Given the description of an element on the screen output the (x, y) to click on. 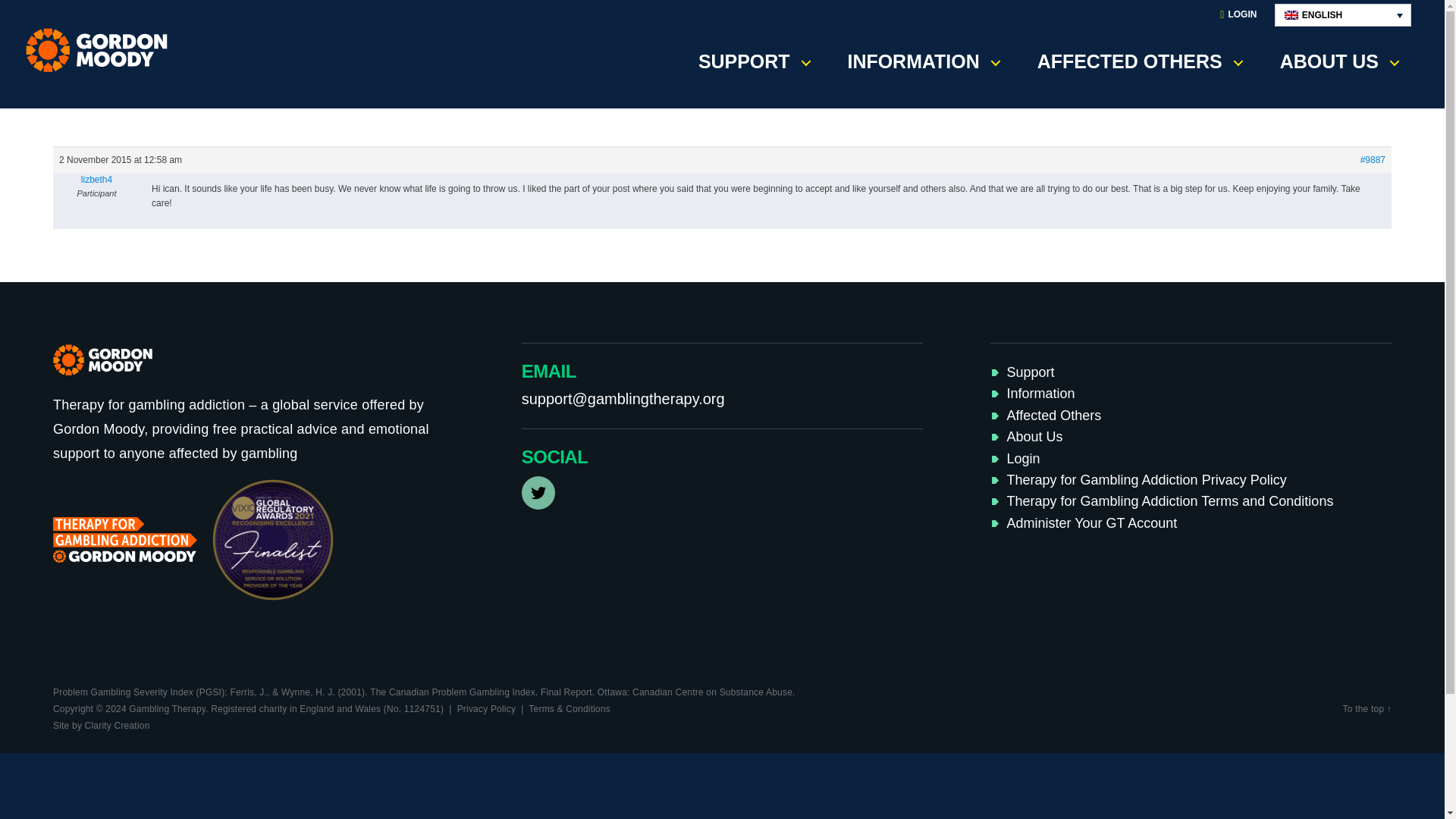
Visit the Clarity Creation website (100, 725)
ENGLISH (1342, 15)
LOGIN (1238, 15)
Gordon Moody (101, 50)
View lizbeth4's profile (95, 179)
